Given the description of an element on the screen output the (x, y) to click on. 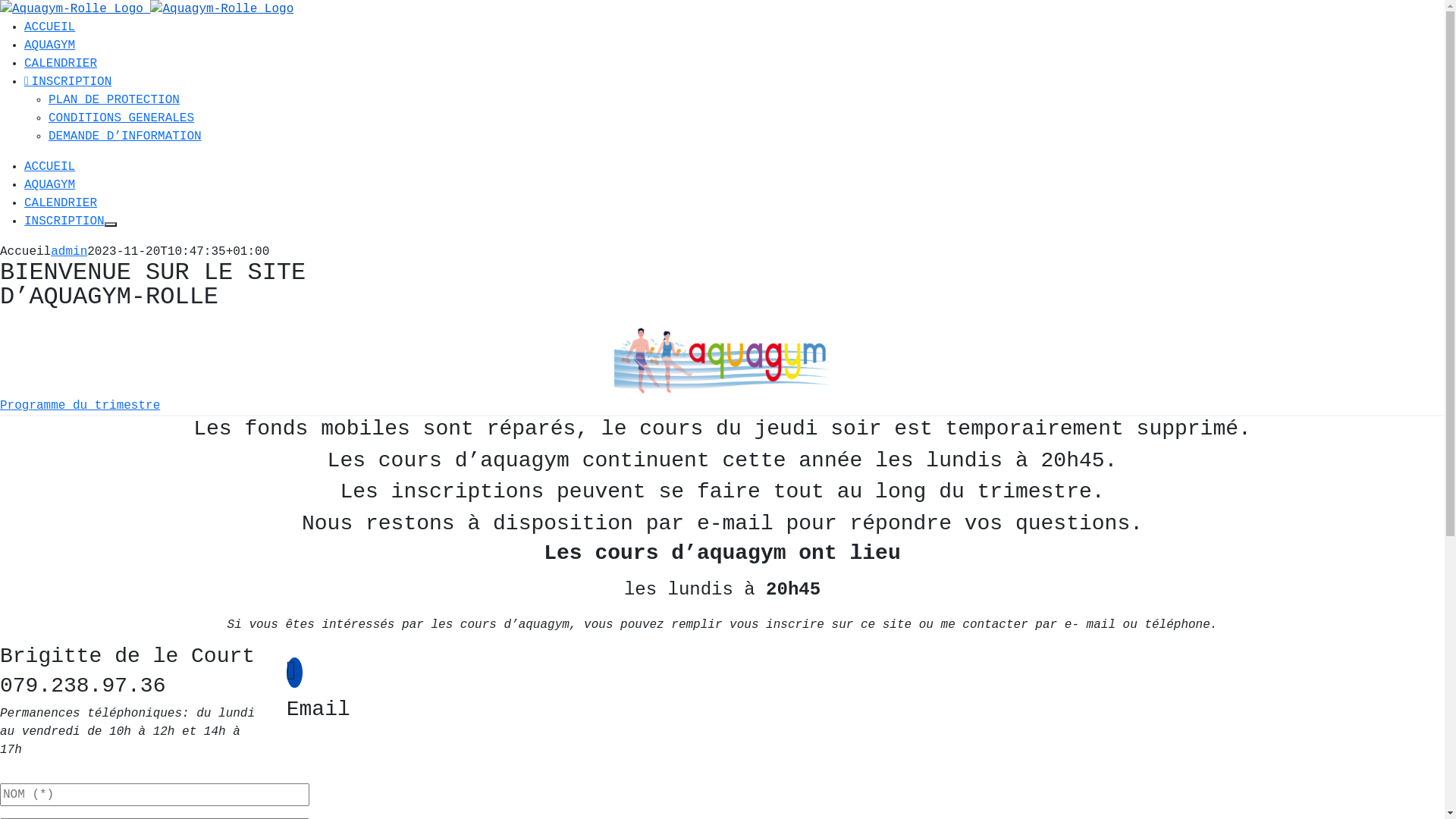
ACCUEIL Element type: text (49, 166)
AQUAGYM Element type: text (49, 184)
LogoAquagym2020 Element type: hover (721, 358)
INSCRIPTION Element type: text (64, 221)
admin Element type: text (68, 251)
CALENDRIER Element type: text (60, 203)
INSCRIPTION Element type: text (67, 81)
CONDITIONS GENERALES Element type: text (121, 118)
Programme du trimestre Element type: text (80, 405)
PLAN DE PROTECTION Element type: text (113, 99)
ACCUEIL Element type: text (49, 27)
CALENDRIER Element type: text (60, 63)
AQUAGYM Element type: text (49, 45)
